Given the description of an element on the screen output the (x, y) to click on. 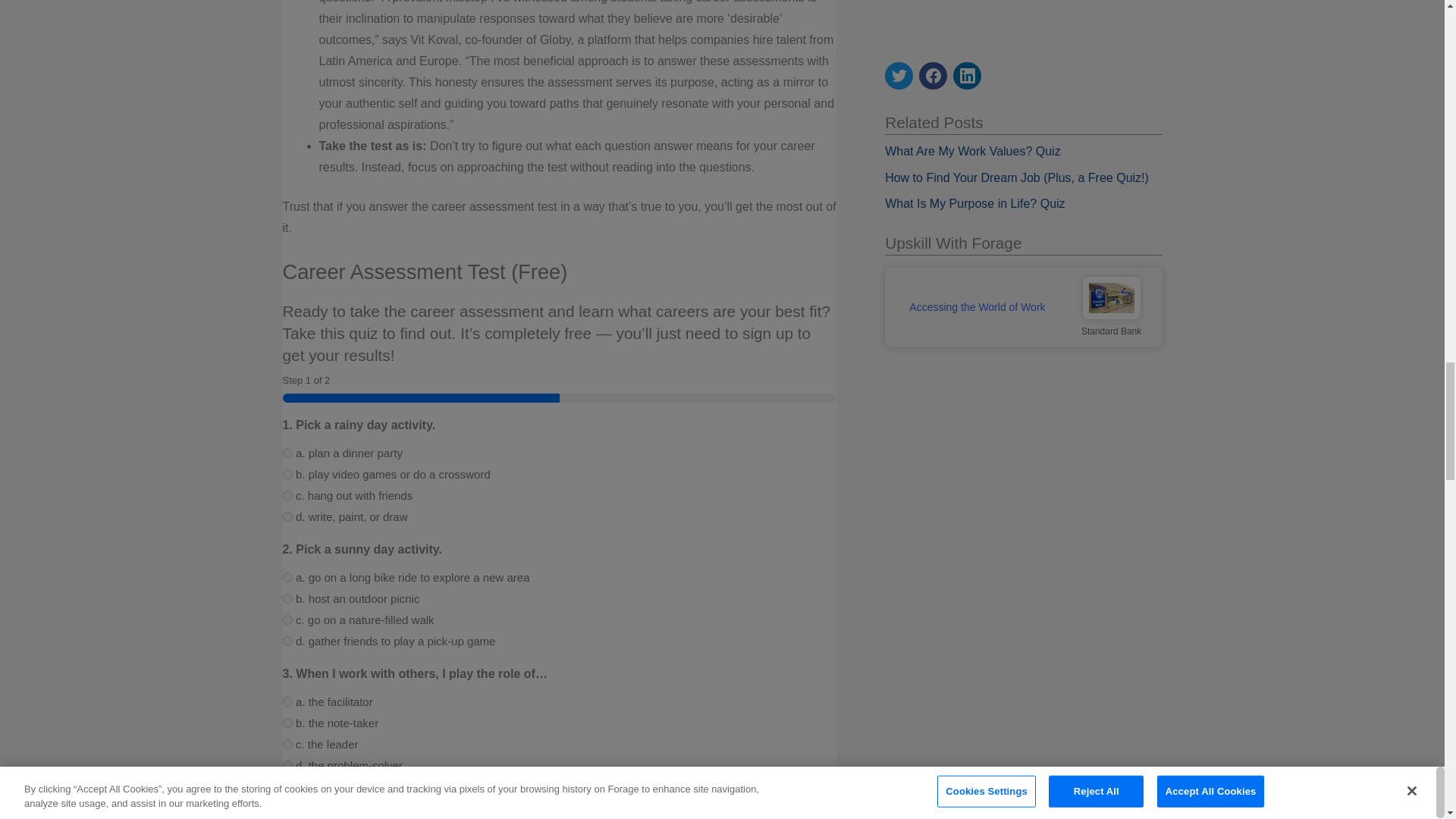
b (287, 577)
d (287, 723)
c (287, 598)
c (287, 701)
a (287, 744)
d (287, 619)
b (287, 765)
b (287, 474)
a (287, 641)
d (287, 516)
